Given the description of an element on the screen output the (x, y) to click on. 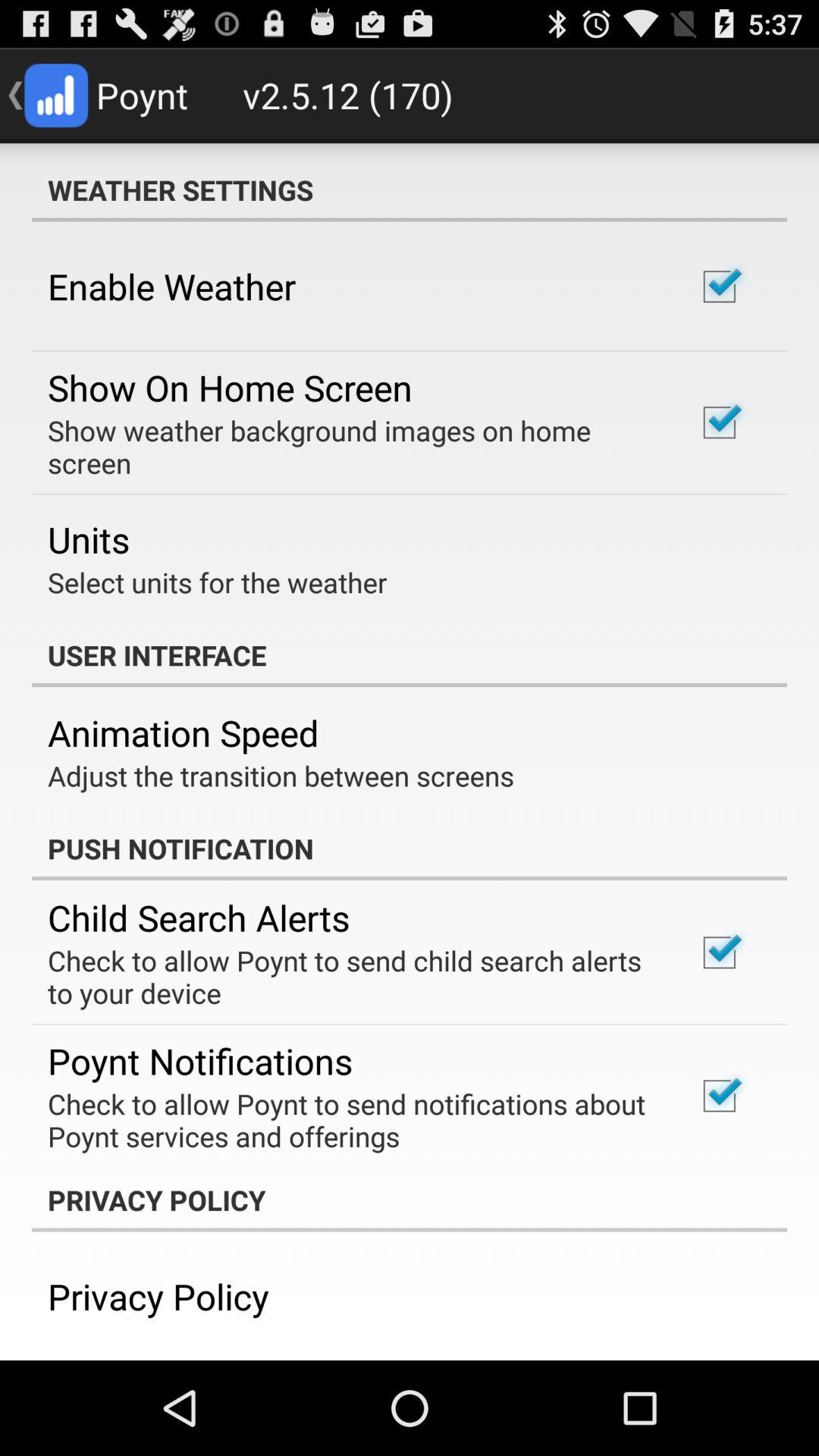
click the icon above the show on home item (171, 286)
